Given the description of an element on the screen output the (x, y) to click on. 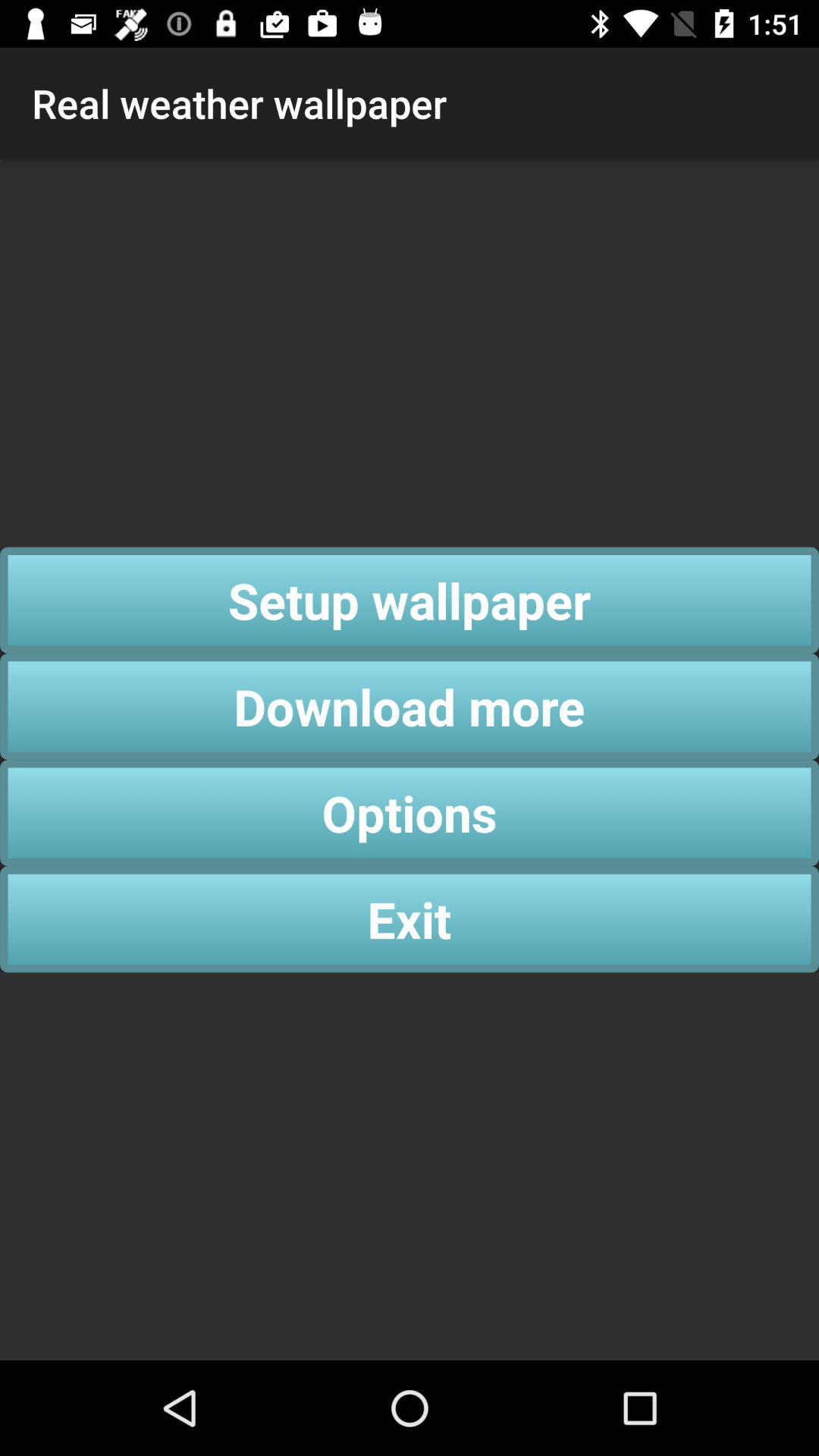
turn on icon above options button (409, 706)
